Given the description of an element on the screen output the (x, y) to click on. 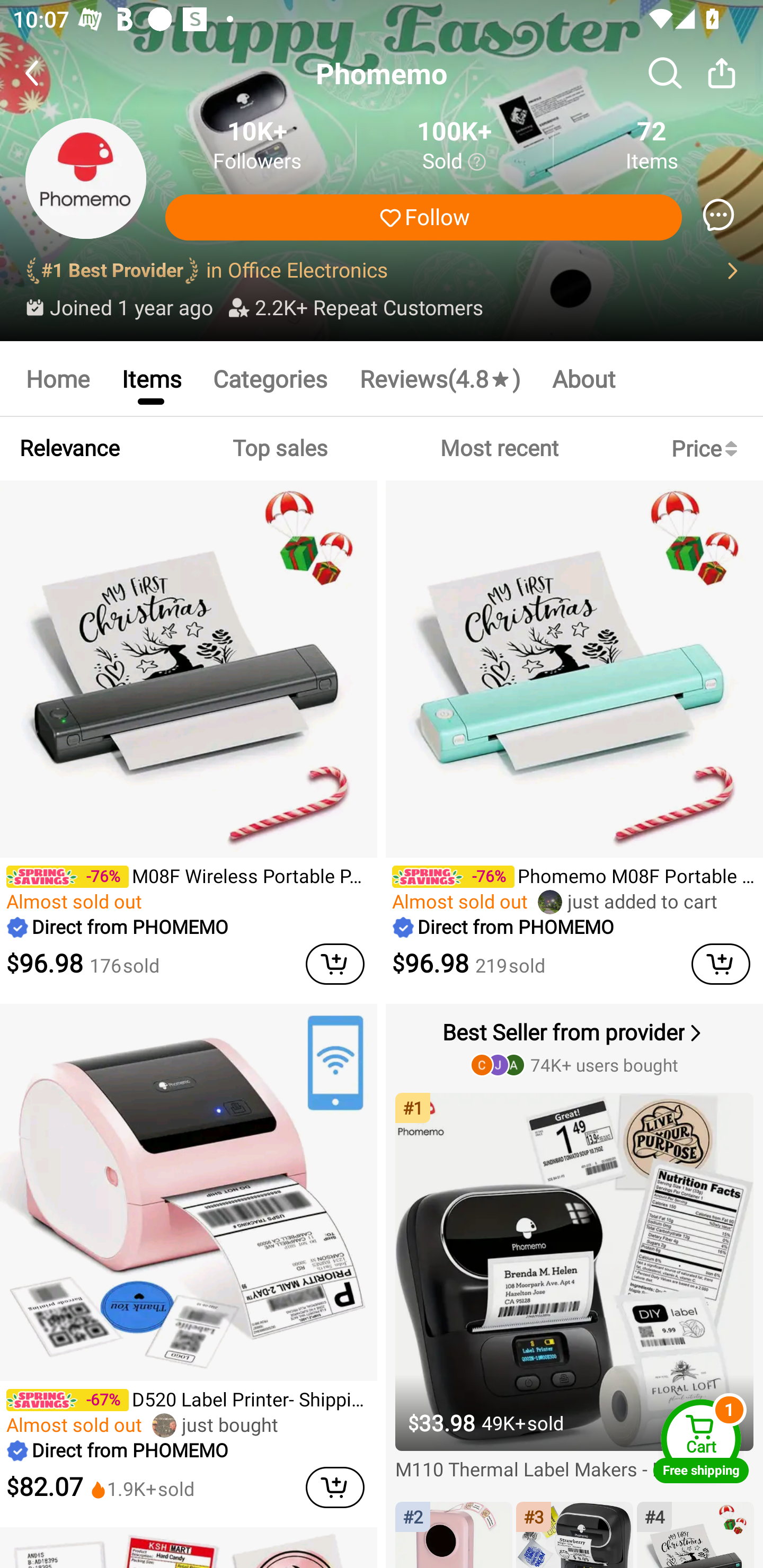
back (47, 72)
share (721, 72)
Sold (453, 161)
#1 Best Provider in Office Electronics (381, 271)
Home (57, 378)
Items (150, 378)
Categories (269, 378)
Reviews(4.8 ) (439, 378)
About (583, 378)
Relevance (69, 448)
Top sales (279, 448)
Most recent (498, 448)
Price (707, 448)
cart delete (334, 963)
cart delete (720, 963)
Best Seller from provider 74K+ users bought (576, 1046)
Cart Free shipping Cart (701, 1440)
cart delete (334, 1487)
#2 (453, 1535)
#3 (574, 1535)
#4 (695, 1535)
